Given the description of an element on the screen output the (x, y) to click on. 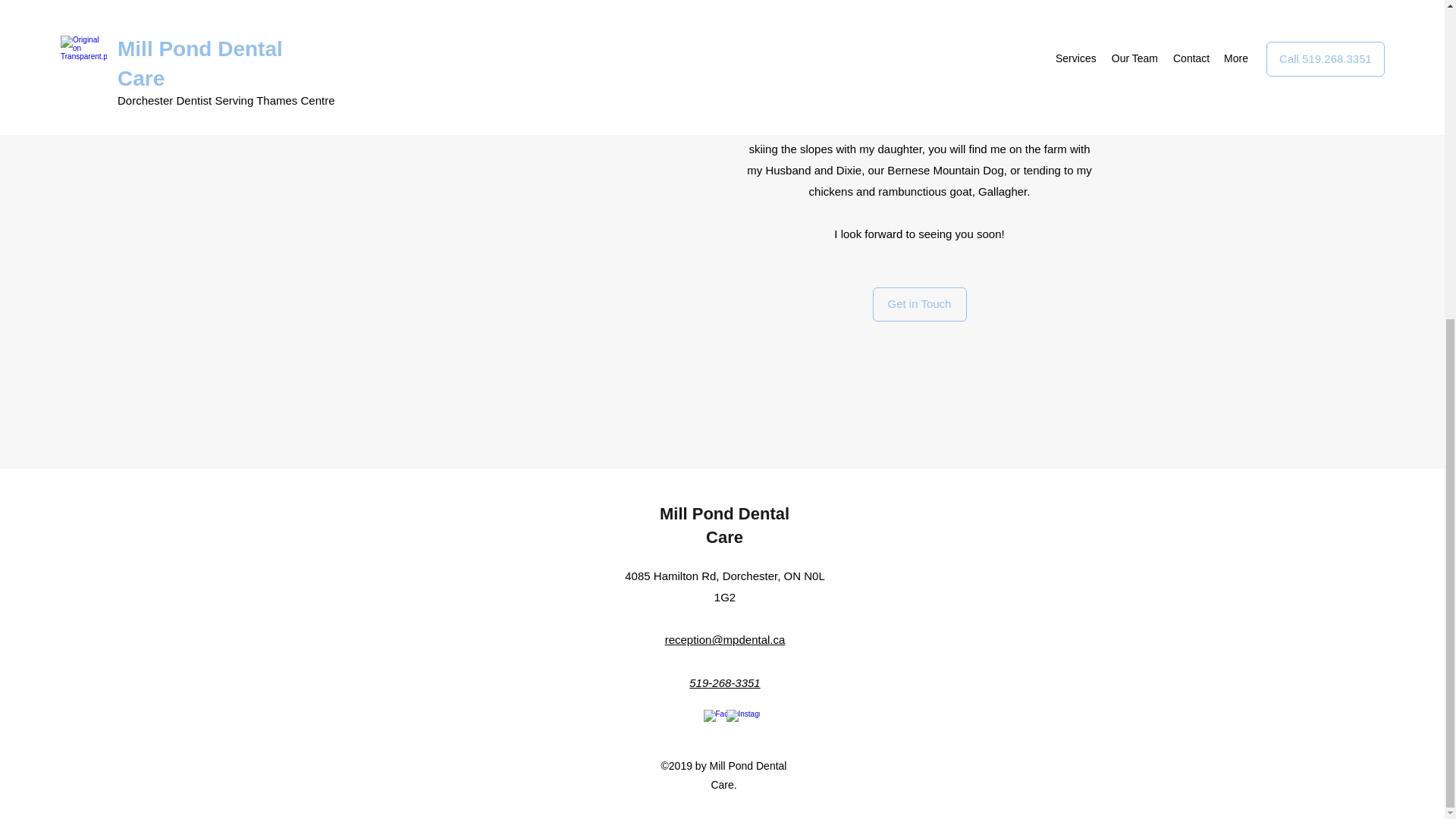
Get in Touch (919, 303)
Mill Pond Dental Care (724, 525)
519-268-3351 (724, 682)
